Given the description of an element on the screen output the (x, y) to click on. 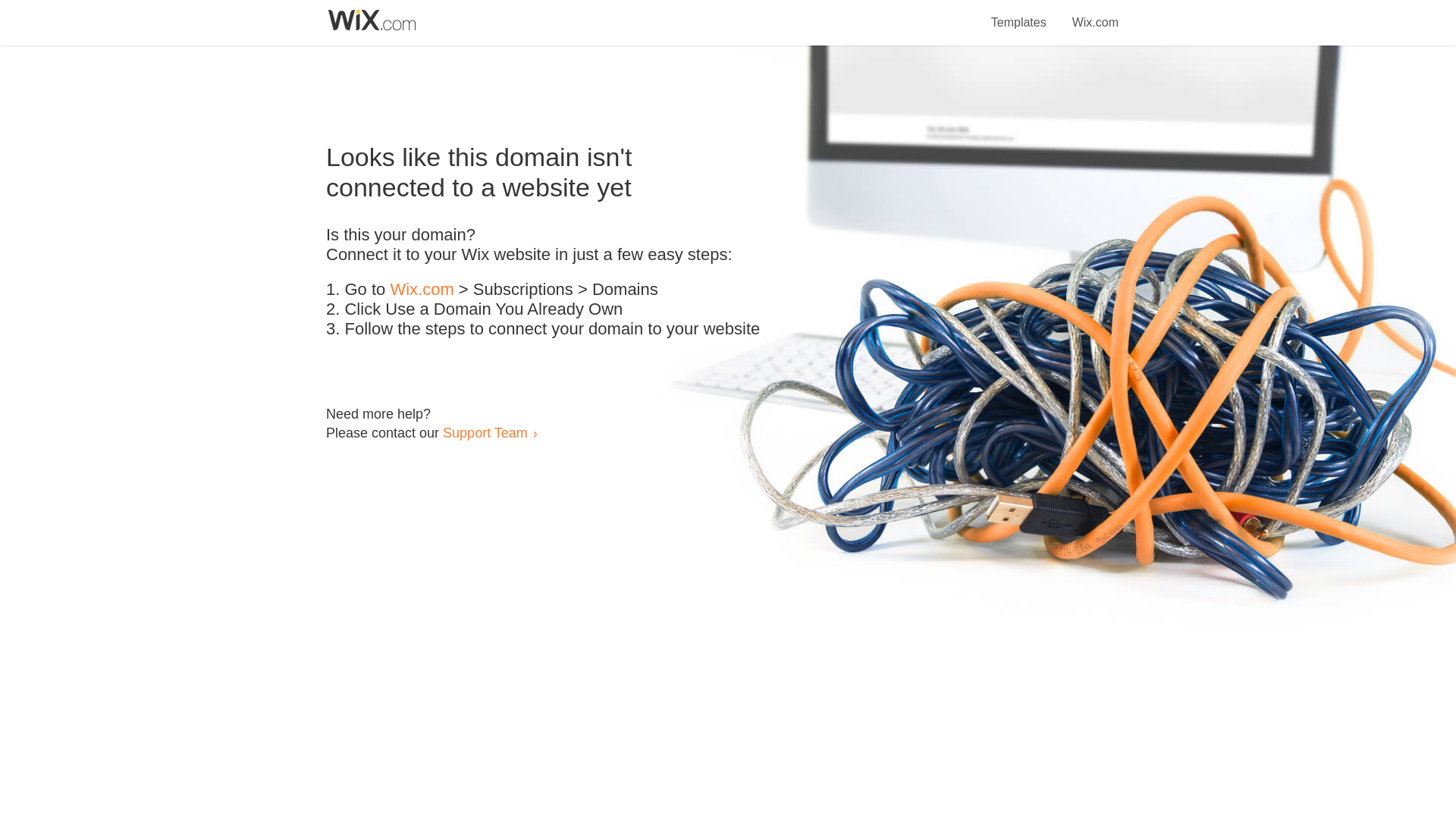
Support Team (484, 432)
Templates (1018, 14)
Wix.com (1095, 14)
Wix.com (421, 289)
